Given the description of an element on the screen output the (x, y) to click on. 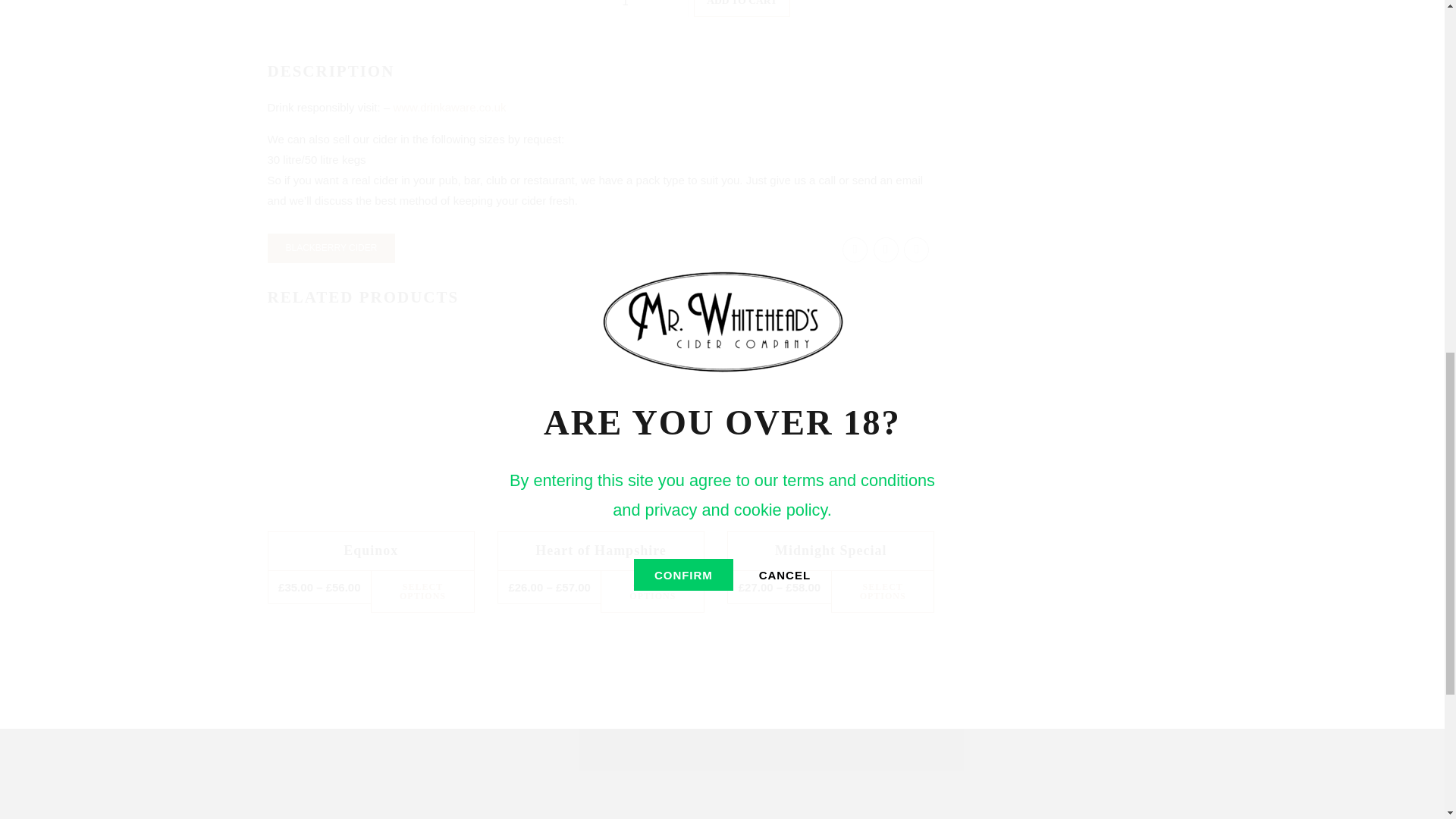
BLACKBERRY CIDER (330, 247)
ADD TO CART (742, 8)
SELECT OPTIONS (422, 591)
Share on Facebook (855, 249)
www.drinkaware.co.uk (449, 106)
1 (650, 9)
Share on Twitter (885, 249)
Equinox (370, 549)
Qty (650, 9)
